Given the description of an element on the screen output the (x, y) to click on. 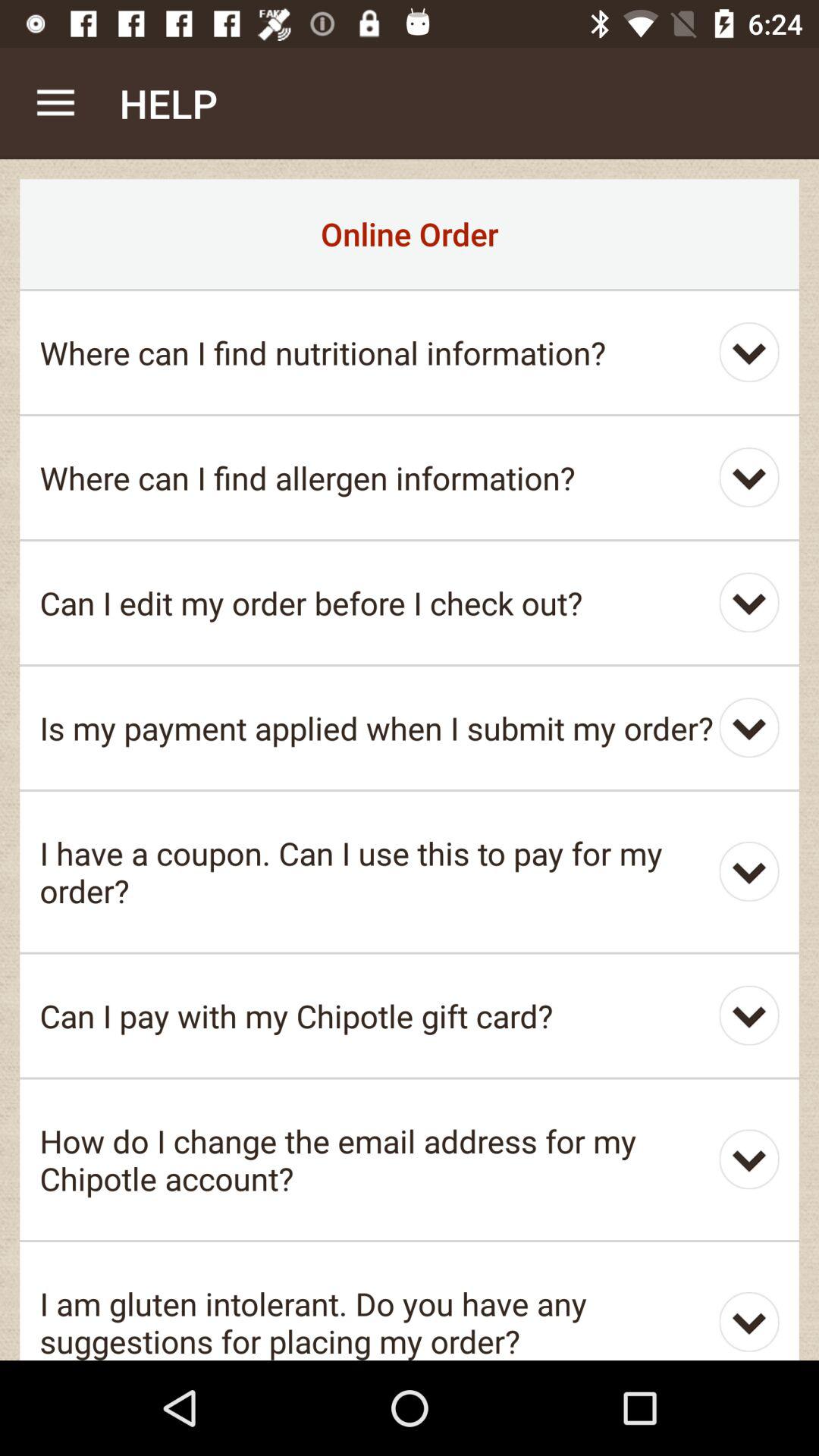
click item next to the help app (55, 103)
